Given the description of an element on the screen output the (x, y) to click on. 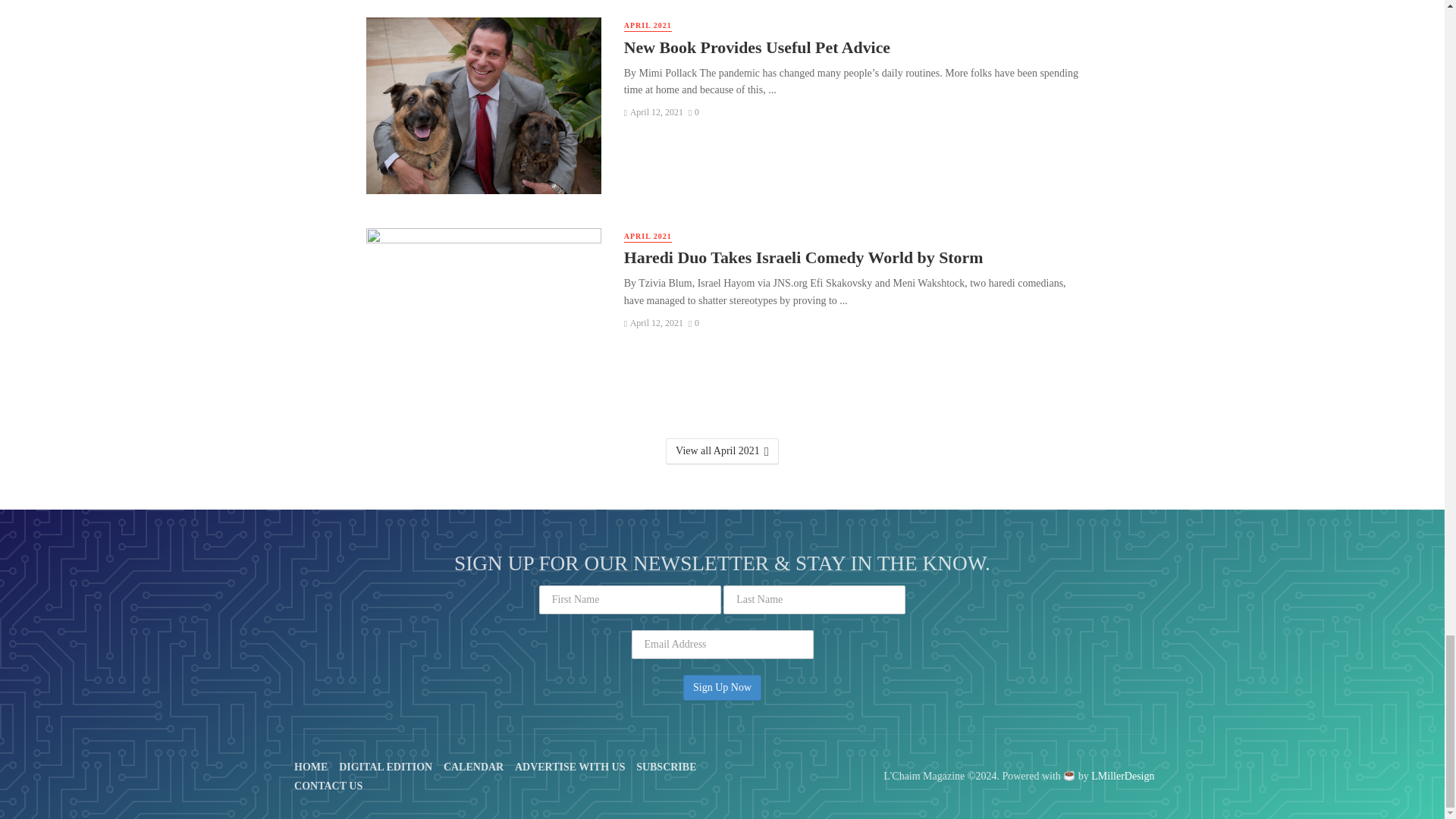
Sign Up Now (721, 687)
